Given the description of an element on the screen output the (x, y) to click on. 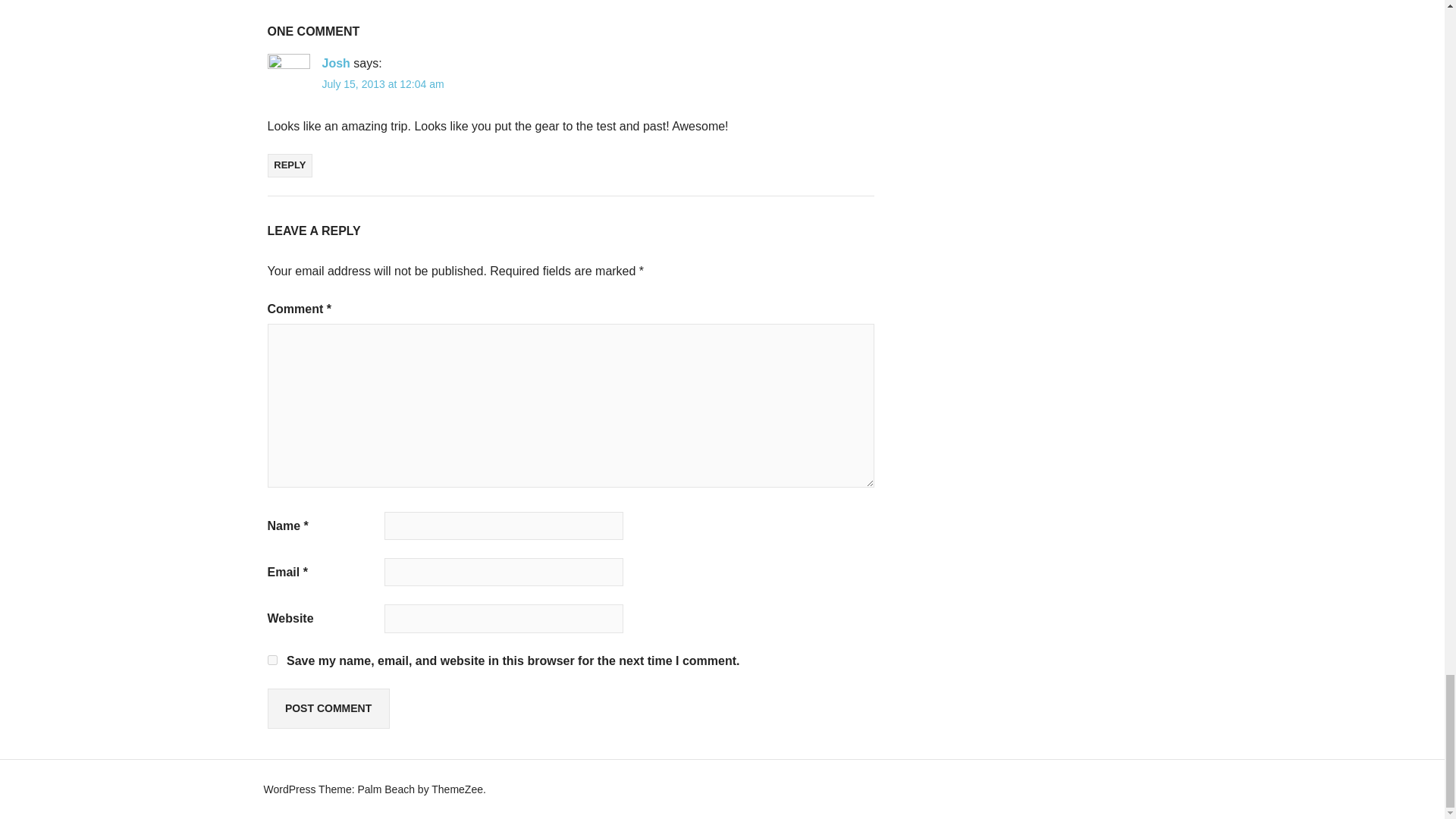
Post Comment (327, 708)
yes (271, 660)
